Given the description of an element on the screen output the (x, y) to click on. 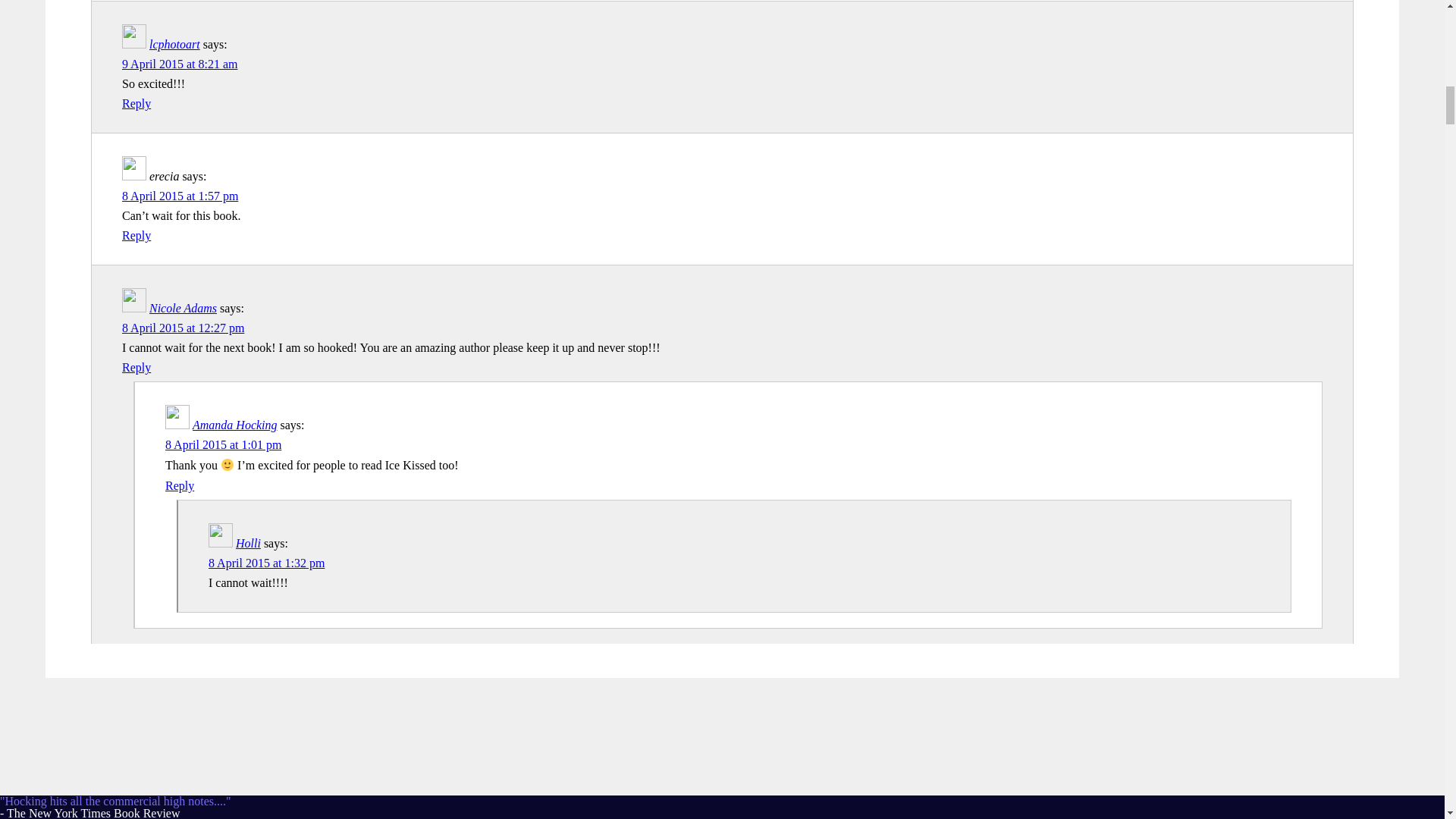
Reply (136, 103)
8 April 2015 at 1:57 pm (180, 195)
9 April 2015 at 8:21 am (179, 63)
Reply (136, 235)
lcphotoart (174, 43)
Nicole Adams (182, 308)
